Given the description of an element on the screen output the (x, y) to click on. 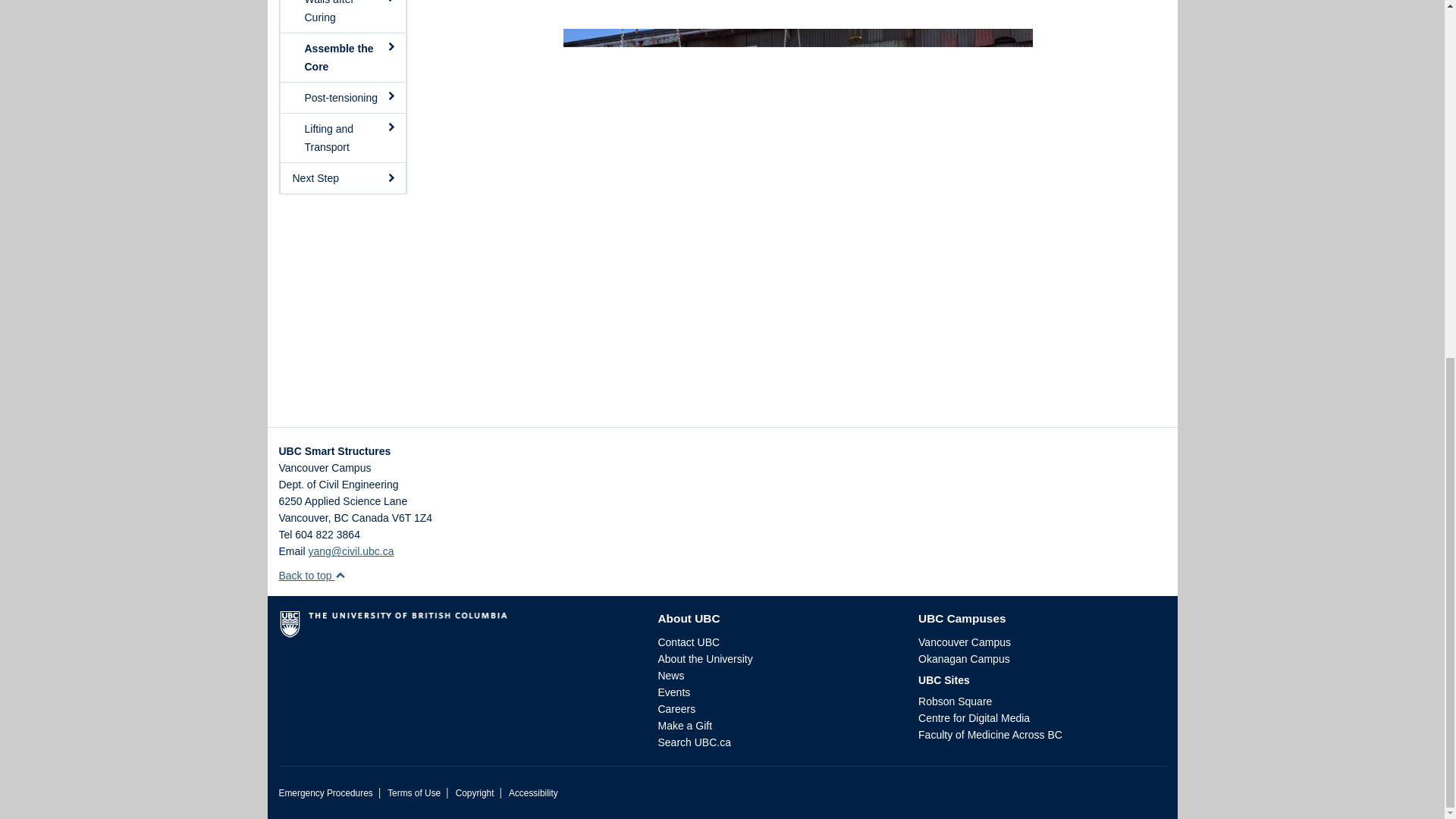
Accessibility (532, 792)
Emergency Procedures (325, 792)
Back to top (312, 575)
UBC Copyright (475, 792)
Terms of Use (414, 792)
